Given the description of an element on the screen output the (x, y) to click on. 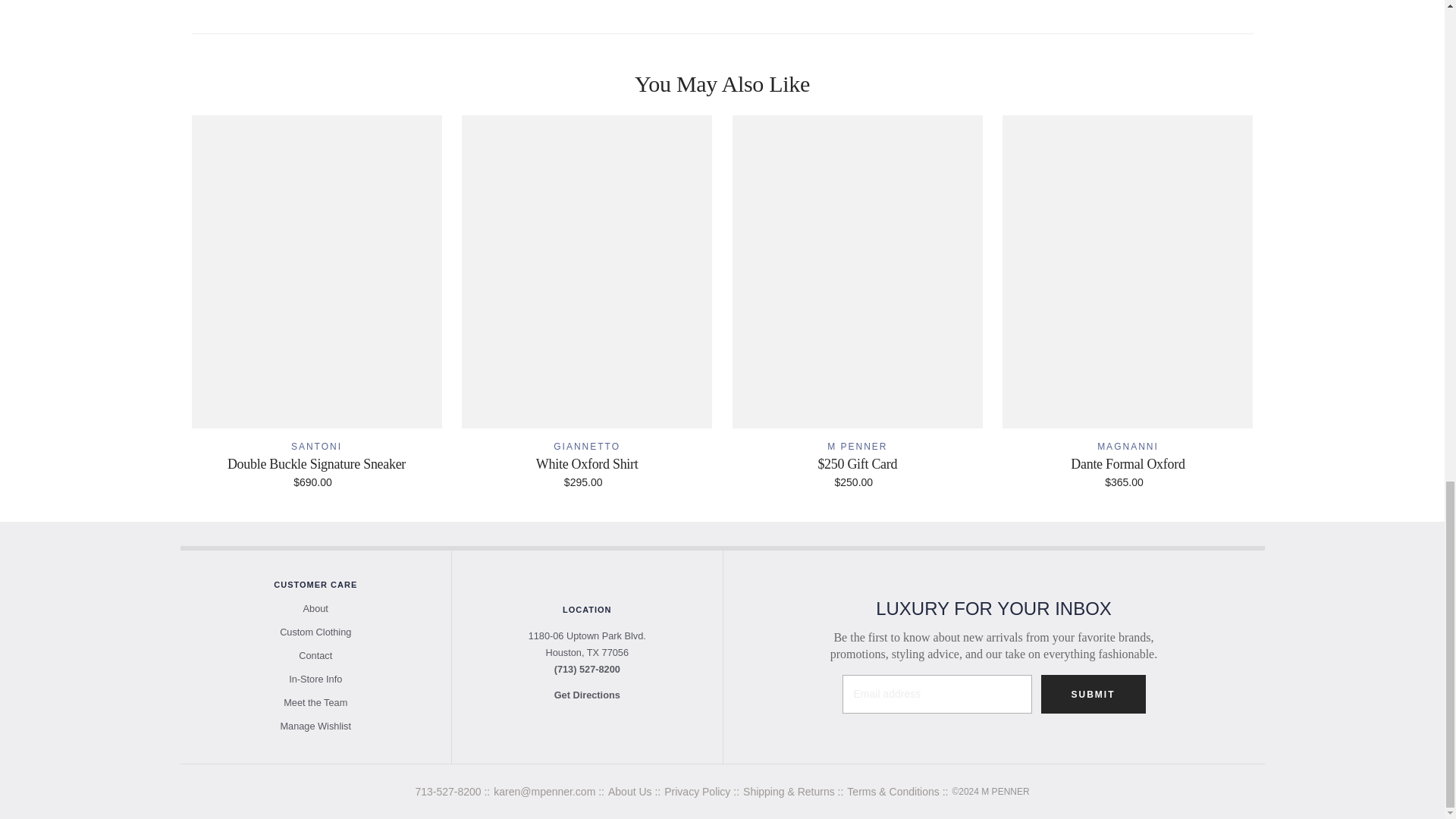
M PENNER (856, 446)
Giannetto (586, 446)
Santoni (316, 446)
